Given the description of an element on the screen output the (x, y) to click on. 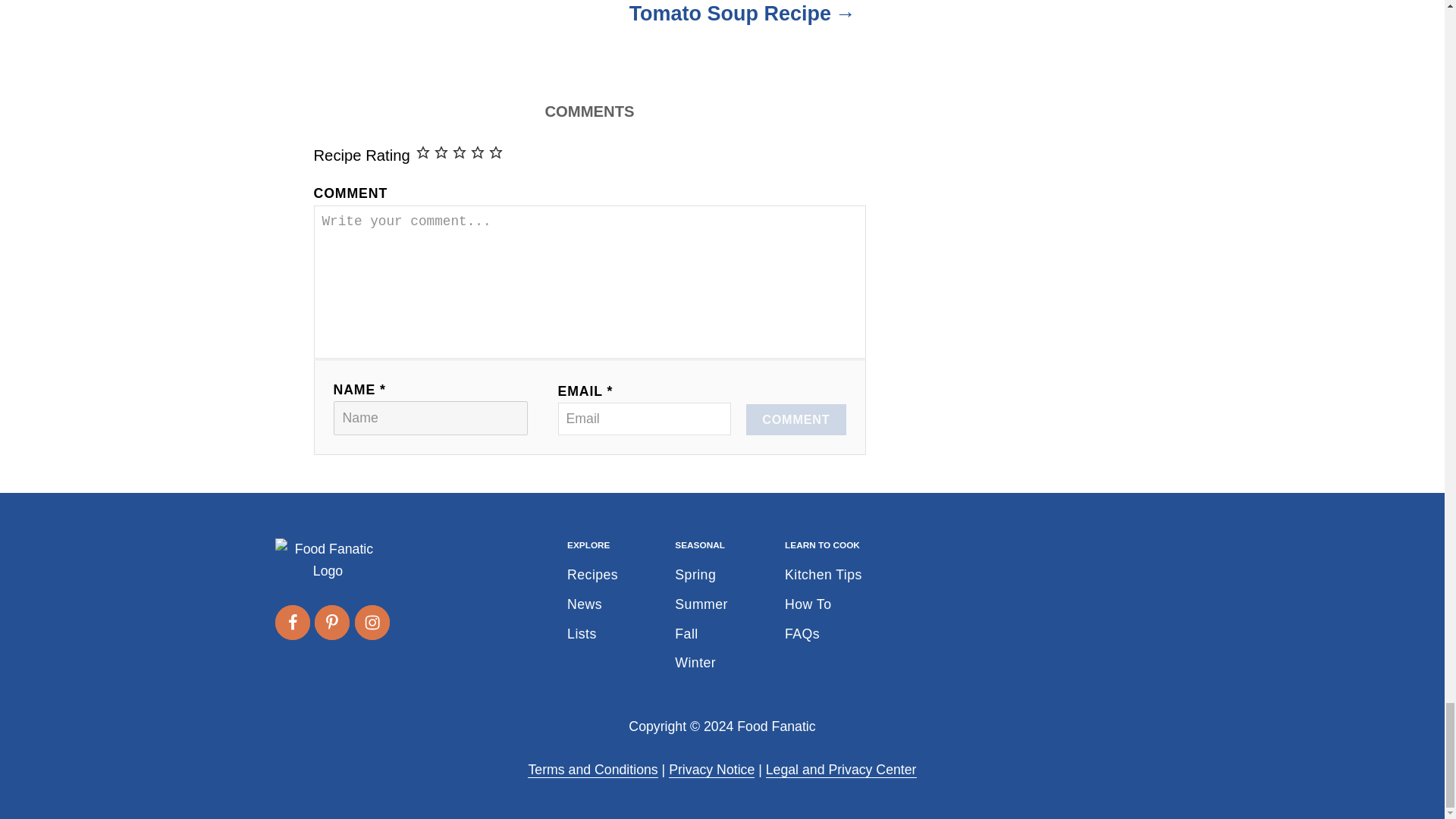
Follow on Pinterest (331, 622)
Follow on Instagram (372, 622)
Follow on Facebook (291, 622)
